Given the description of an element on the screen output the (x, y) to click on. 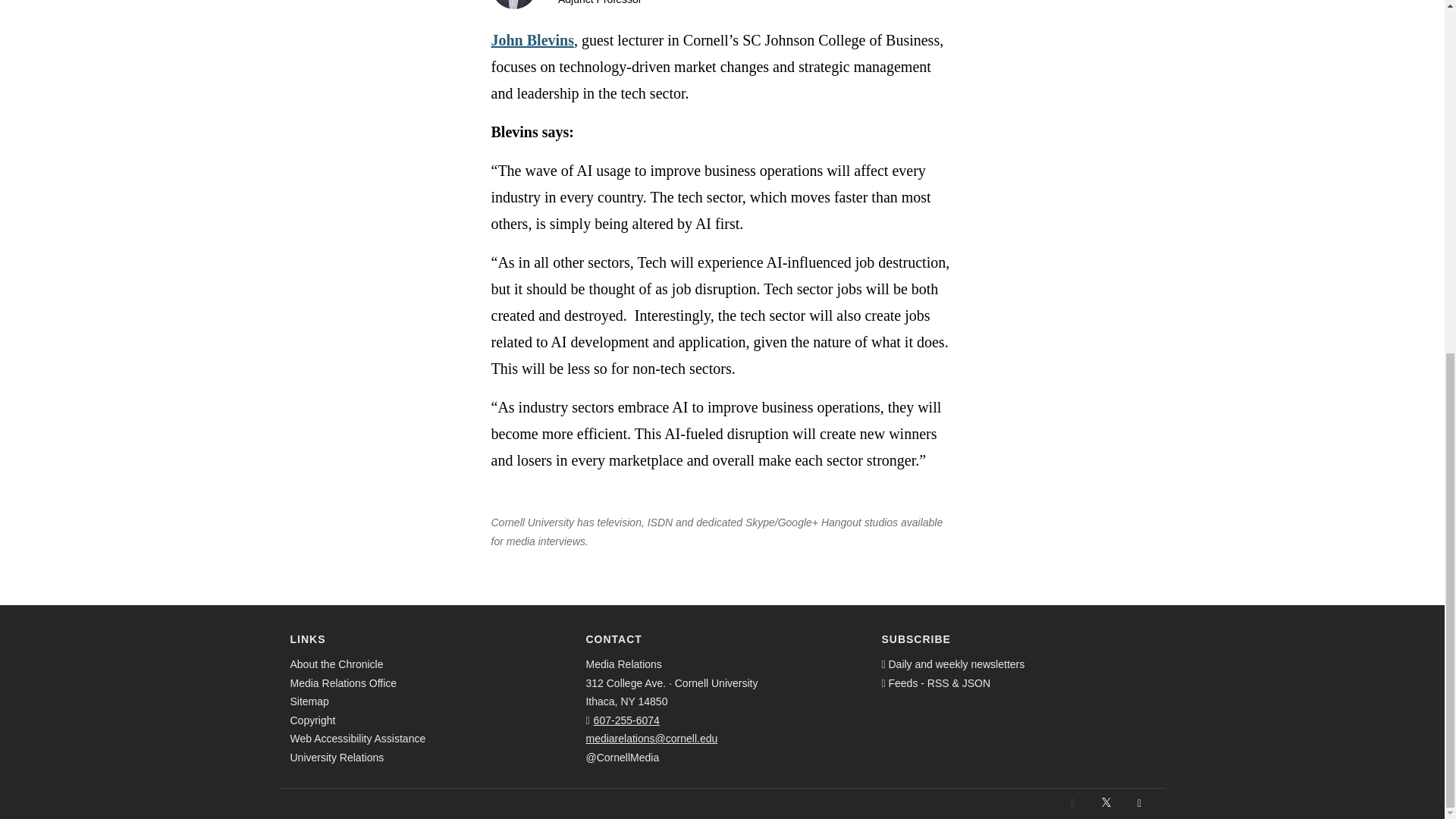
Copyright (311, 720)
About the Chronicle (335, 664)
Media Relations Office (342, 683)
Sitemap (309, 701)
John Blevins (532, 39)
